Given the description of an element on the screen output the (x, y) to click on. 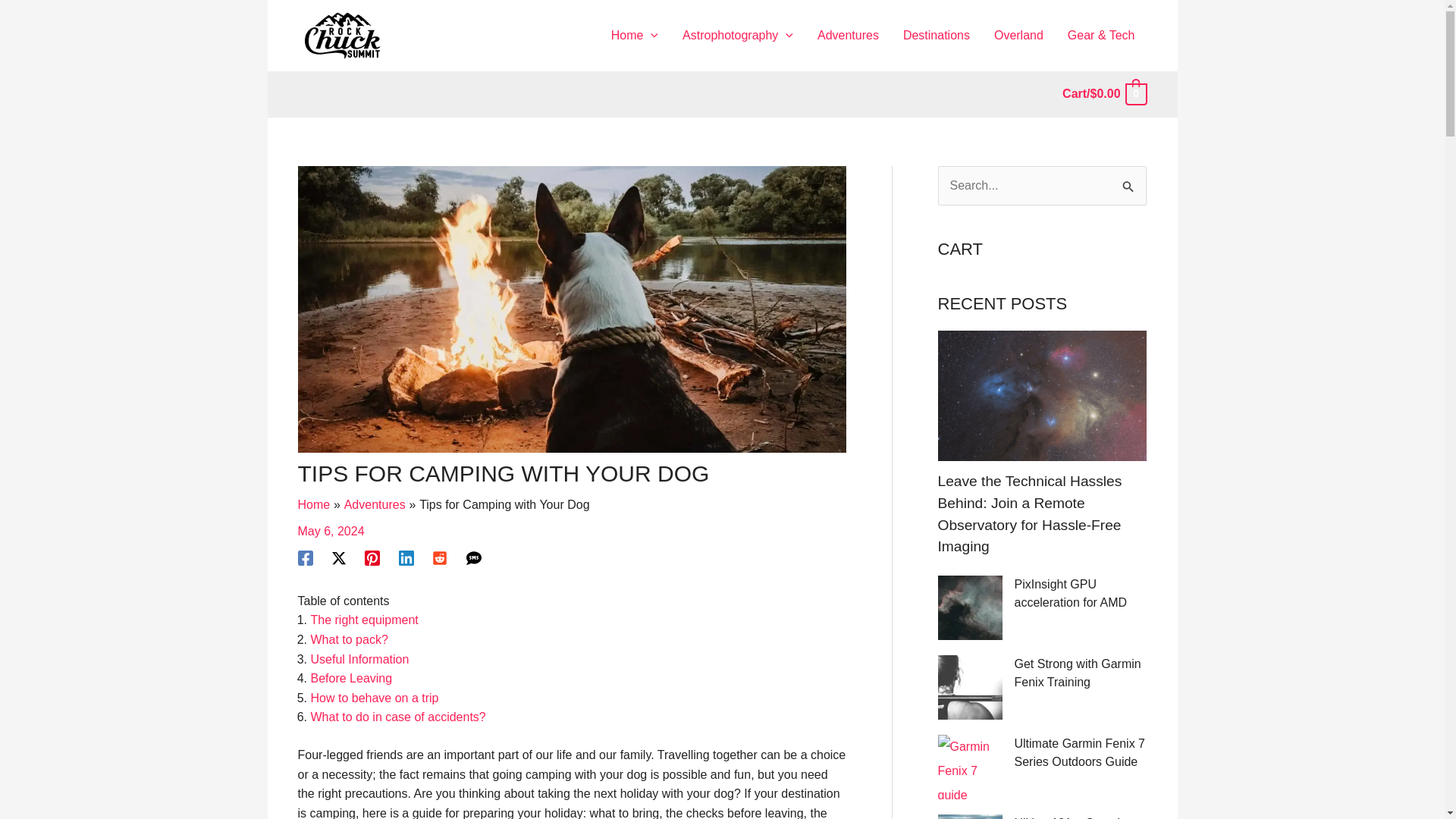
Before Leaving (352, 677)
Search (1128, 182)
Adventures (374, 504)
Overland (1018, 35)
Home (633, 35)
Search (1128, 182)
Astrophotography (737, 35)
Home (313, 504)
What to pack? (349, 639)
Adventures (848, 35)
Useful Information (360, 658)
Destinations (936, 35)
What to do in case of accidents? (398, 716)
How to behave on a trip (375, 697)
The right equipment (365, 619)
